Given the description of an element on the screen output the (x, y) to click on. 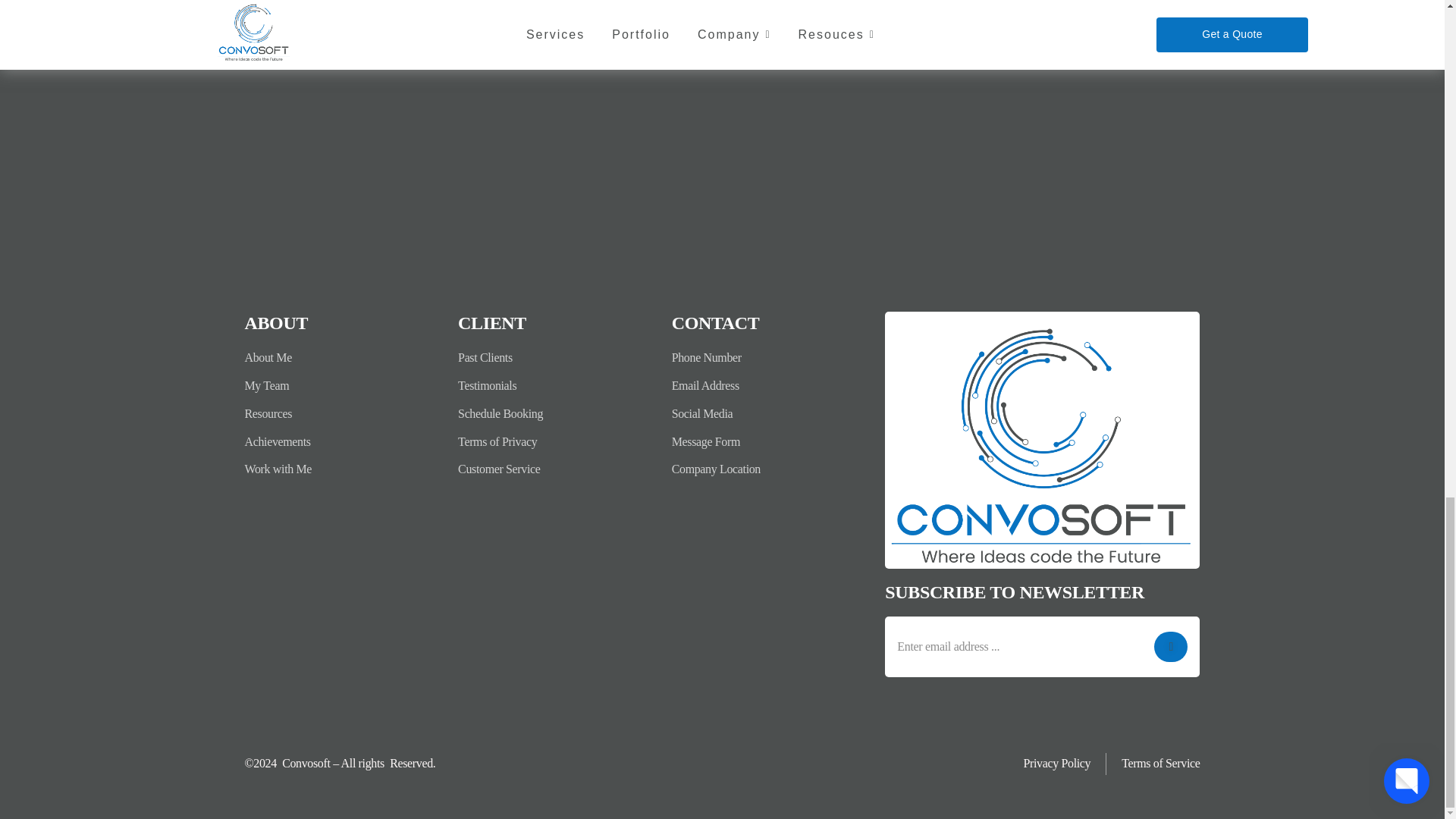
Testimonials (557, 386)
Resources (343, 414)
Social Media (770, 414)
Message Form (770, 442)
Schedule Booking (557, 414)
About Me (343, 358)
Achievements (343, 442)
Work with Me (343, 469)
Company Location (770, 469)
Email Address (770, 386)
